Given the description of an element on the screen output the (x, y) to click on. 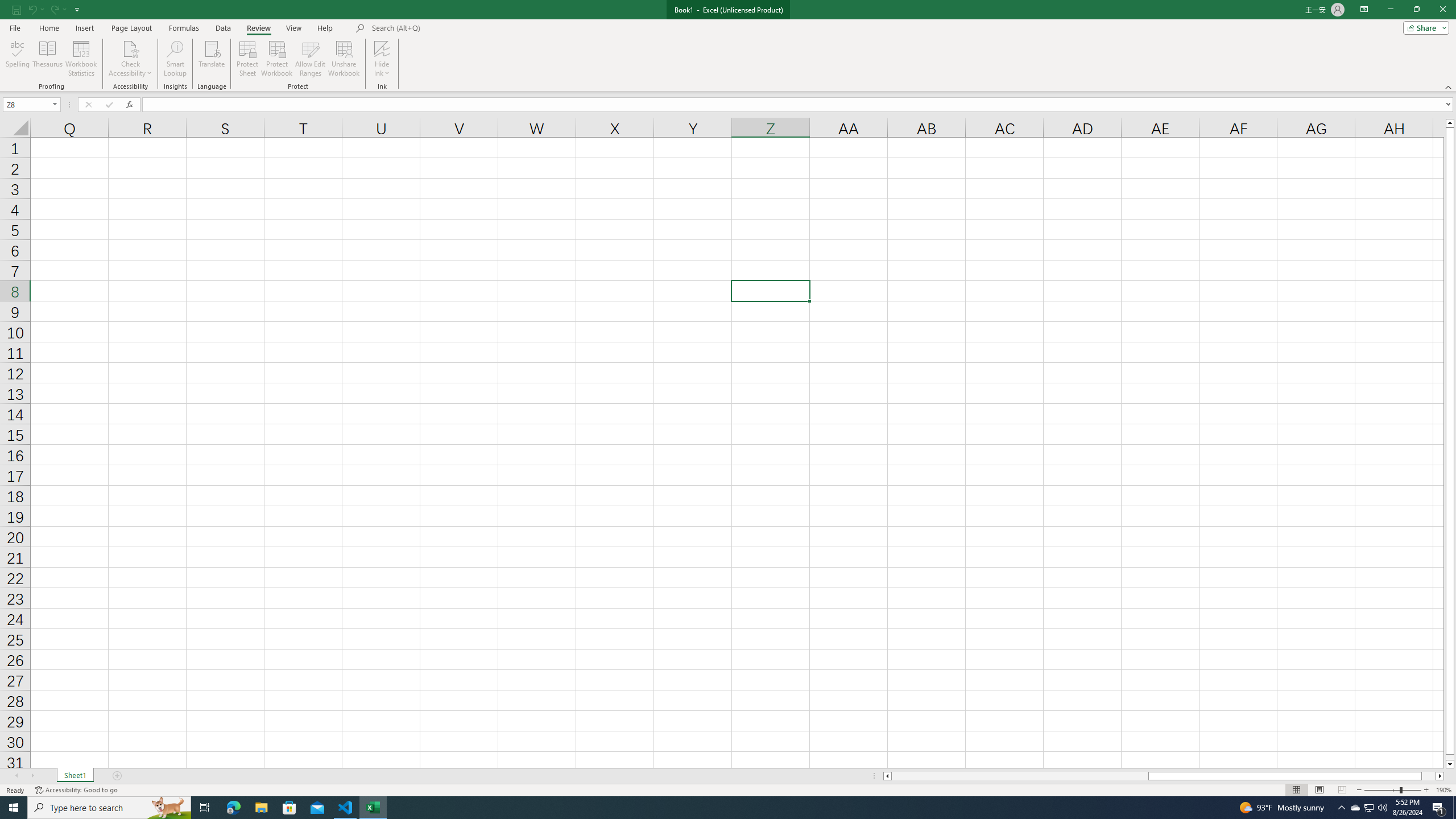
Allow Edit Ranges (310, 58)
Smart Lookup (175, 58)
Translate (211, 58)
